Given the description of an element on the screen output the (x, y) to click on. 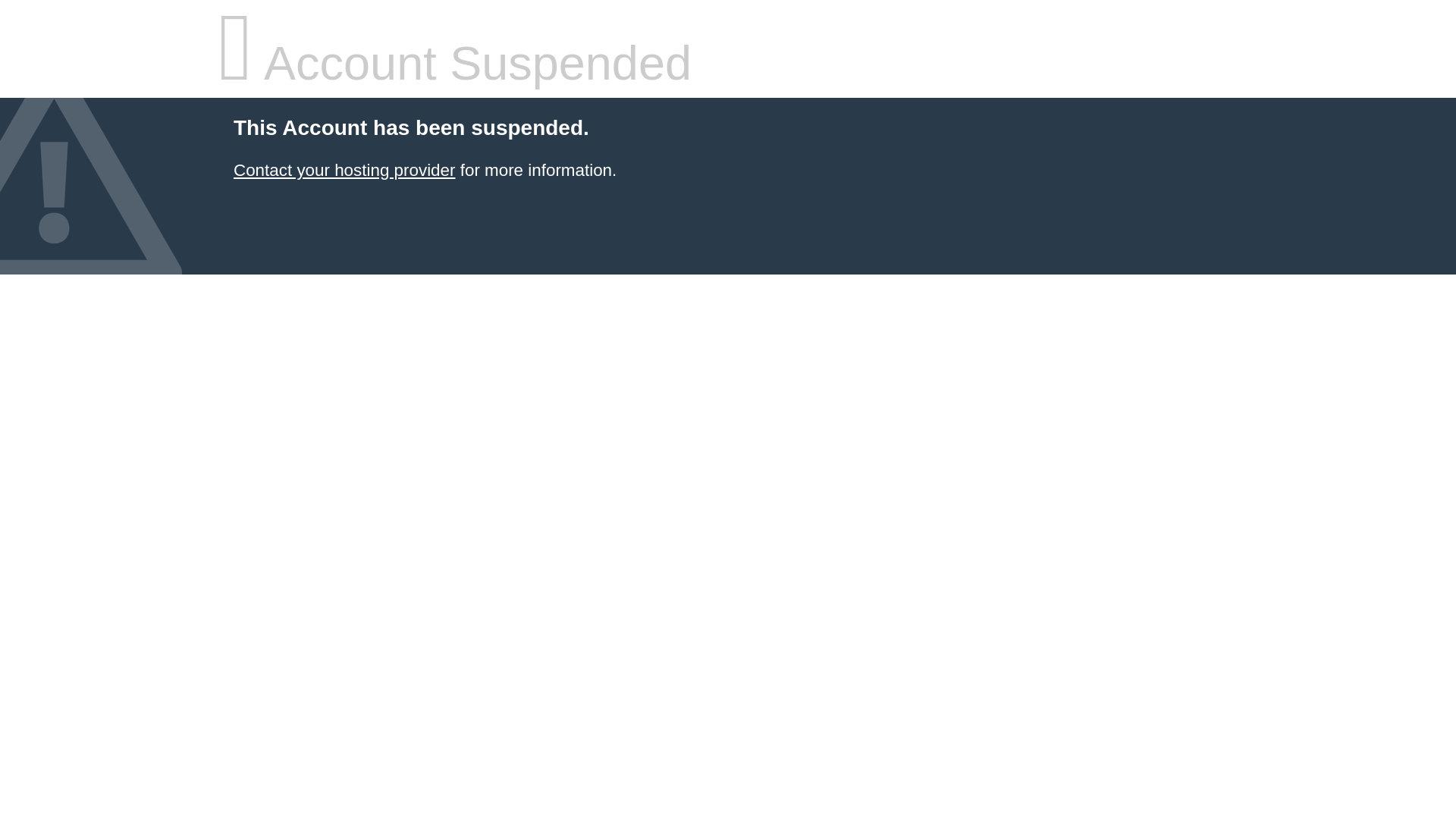
Web Hosting Canada (343, 169)
Contact your hosting provider (343, 169)
